Given the description of an element on the screen output the (x, y) to click on. 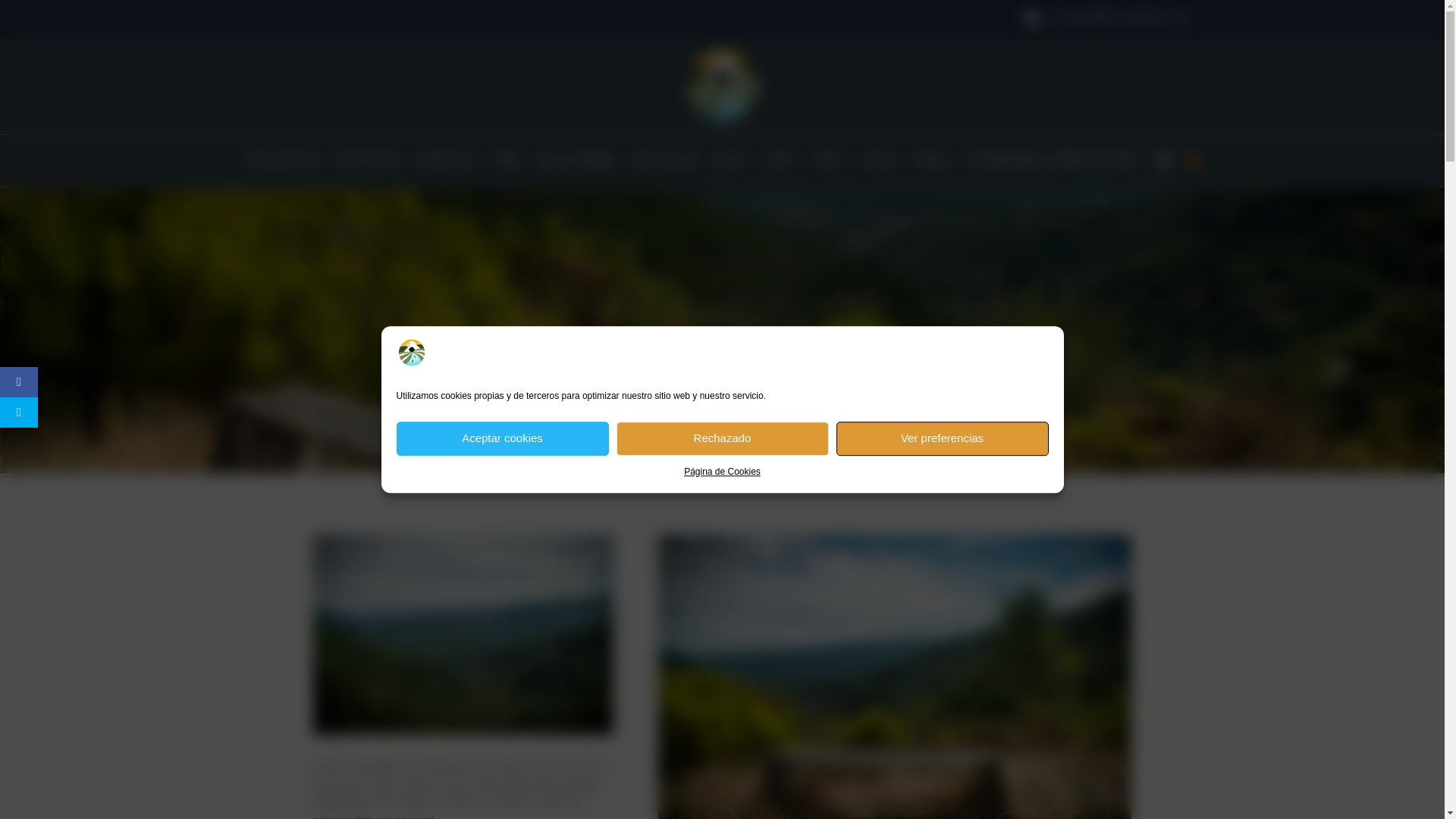
History (731, 163)
Parties (828, 163)
Way of Santiago (576, 163)
Gastronomy (446, 163)
Follow on Youtube (355, 18)
Nature (780, 163)
Aceptar cookies (502, 438)
Follow on X (306, 18)
Rural Tourism (368, 163)
Follow on Instagram (330, 18)
